Given the description of an element on the screen output the (x, y) to click on. 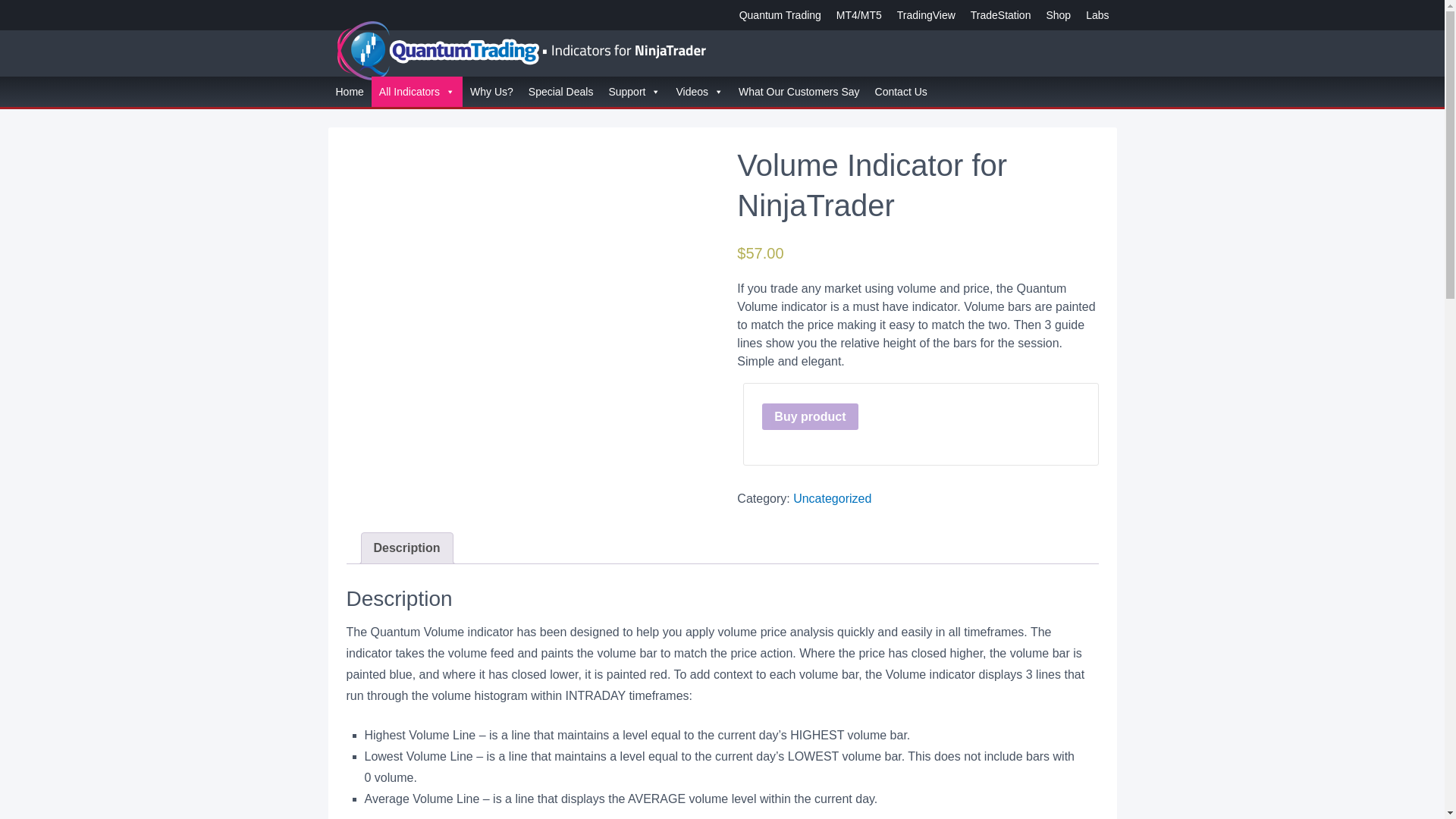
All Indicators (417, 91)
TradeStation (1000, 15)
Special Deals (561, 91)
Why Us? (492, 91)
Support (633, 91)
TradingView (925, 15)
Home (349, 91)
Shop (1058, 15)
Quantum Trading (780, 15)
Labs (1097, 15)
